Given the description of an element on the screen output the (x, y) to click on. 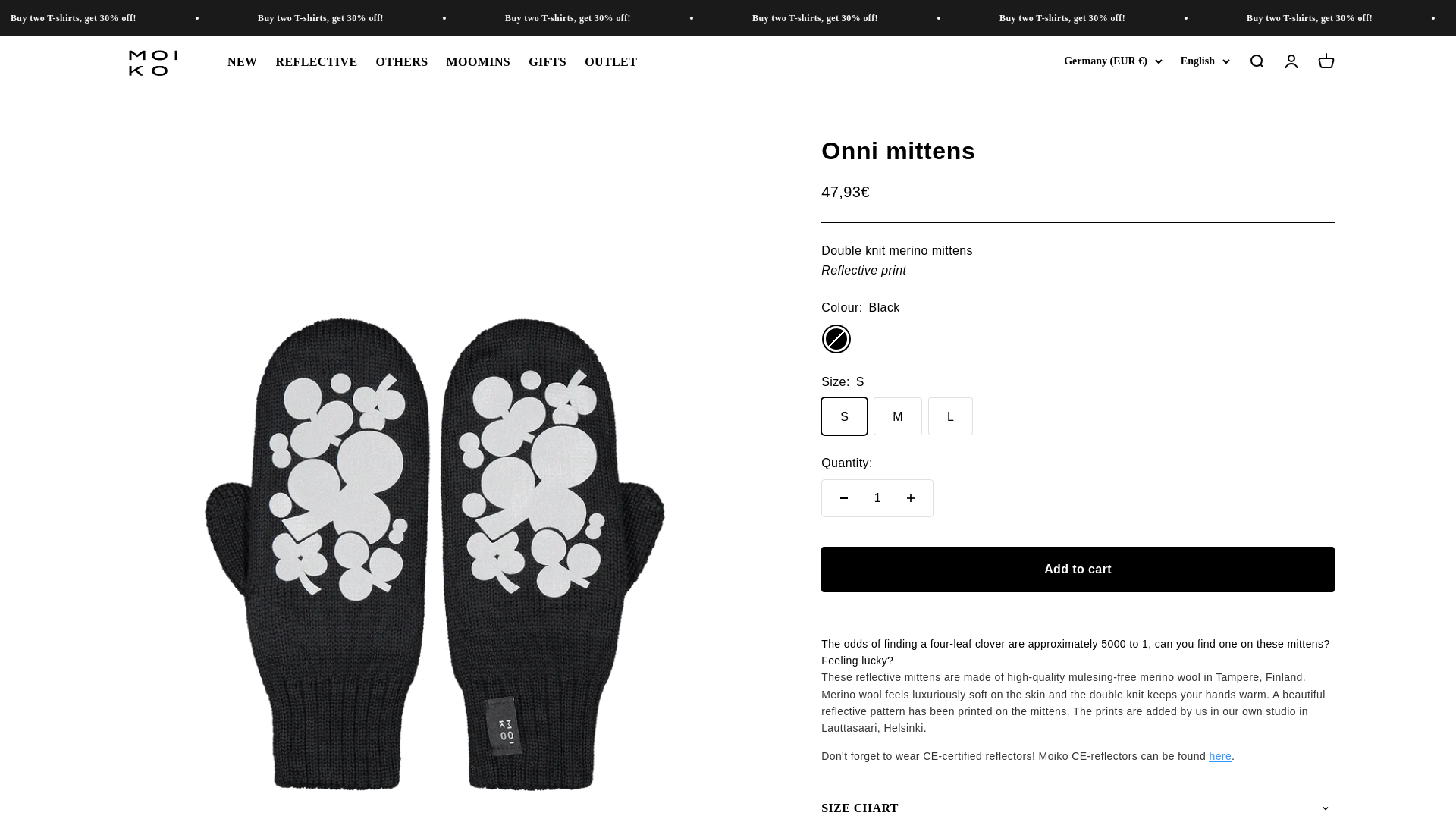
NEW (242, 61)
